Given the description of an element on the screen output the (x, y) to click on. 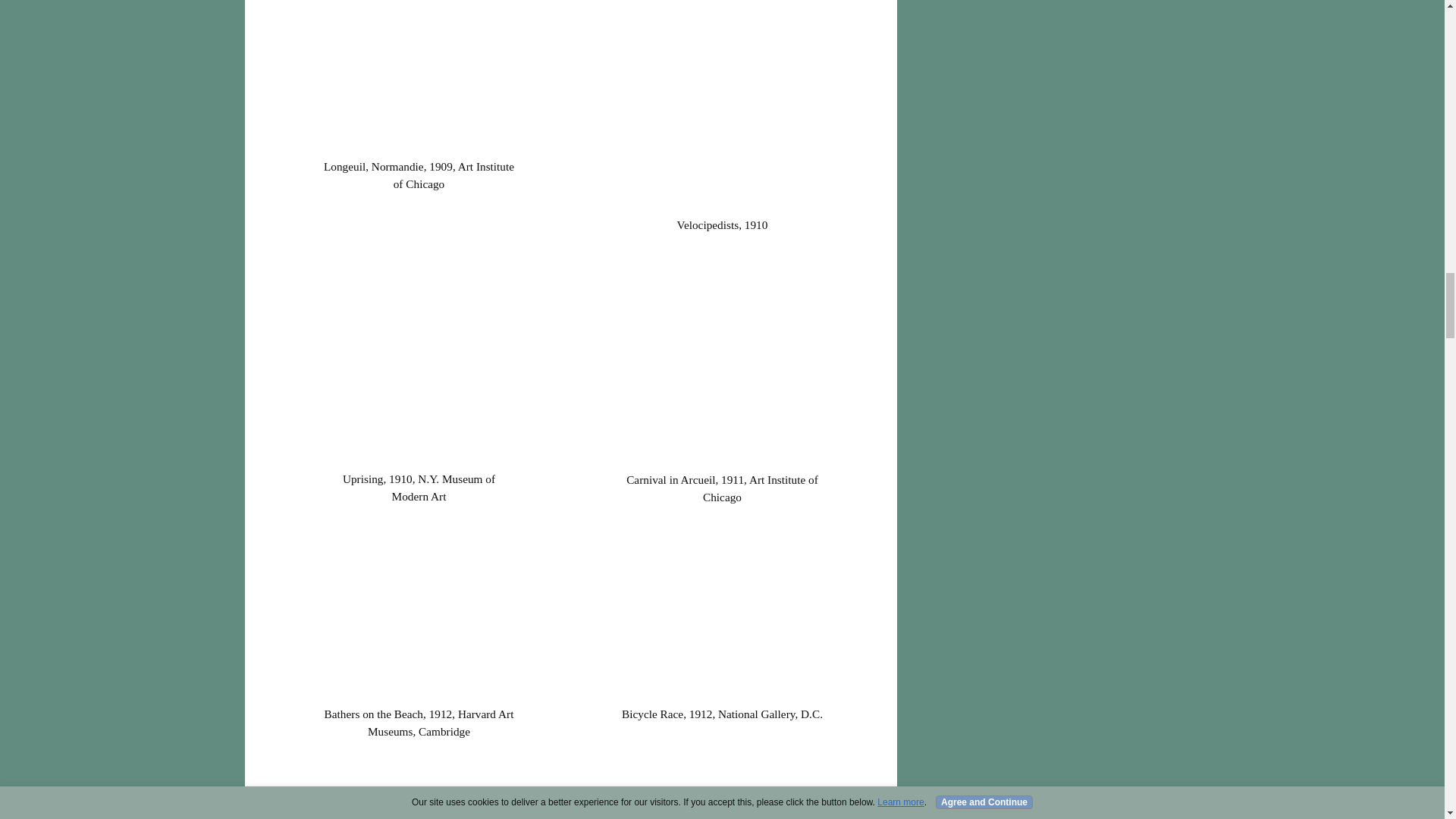
Lyonel Feininger, Carnival in Arcueil, 1911 (721, 359)
Lyonel Feininger, Gelmeroda III, 1913 (721, 789)
Lyonel Feininger, Velocipedists, 1910 (721, 105)
Lyonel Feininger, Angler With Blue Fish II, 1912 (418, 789)
Lyonel Feininger, Uprising, 1910 (419, 358)
Lyonel Feininger, Bathers on the Beach, 1912 (418, 612)
Lyonel Feininger, Bicycle Race, 1912 (721, 612)
Lyonel Feininger, Longeuil, Normandie, 1909 (418, 76)
